Given the description of an element on the screen output the (x, y) to click on. 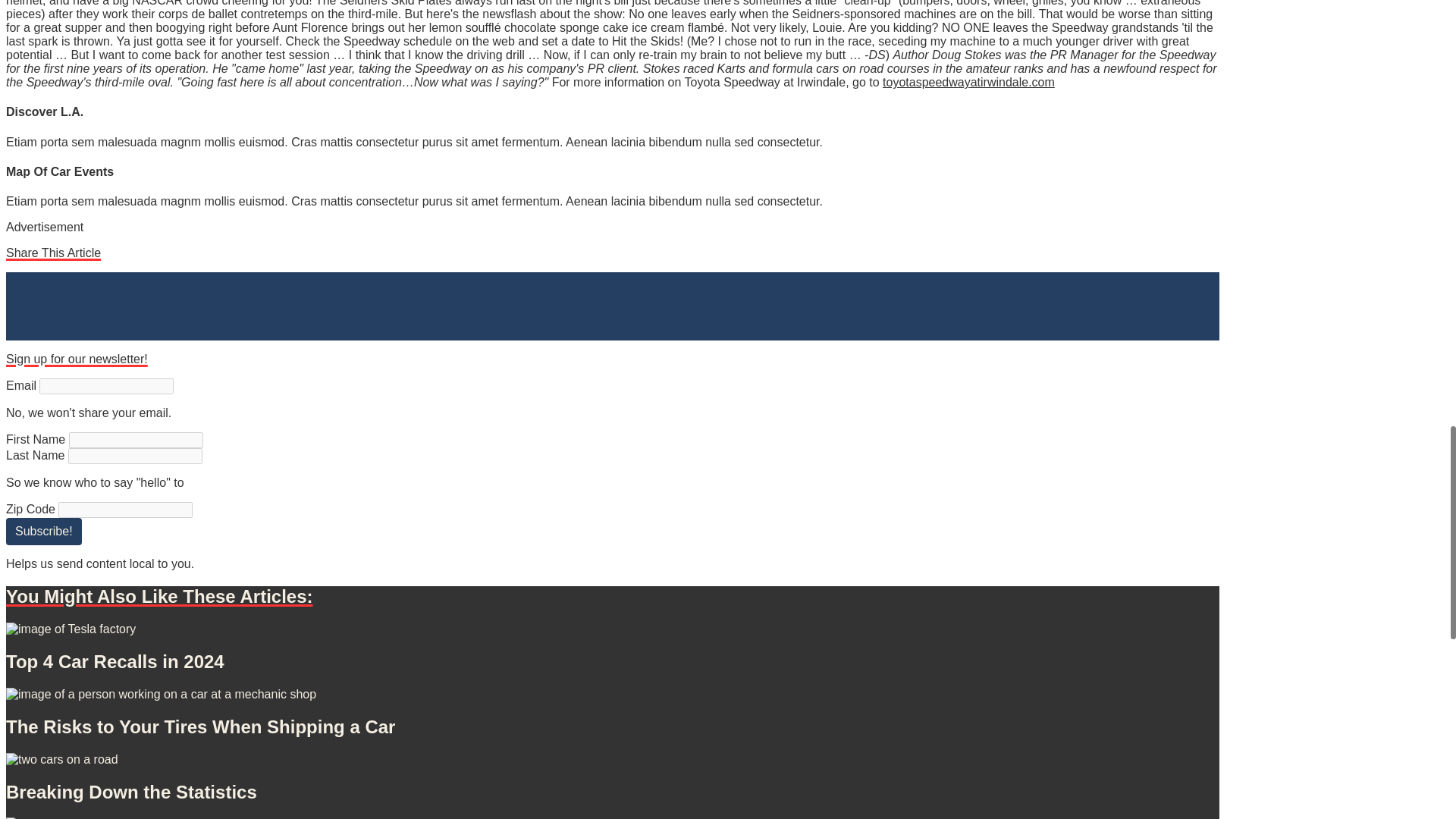
Subscribe! (43, 531)
toyotaspeedwayatirwindale.com (968, 82)
